Given the description of an element on the screen output the (x, y) to click on. 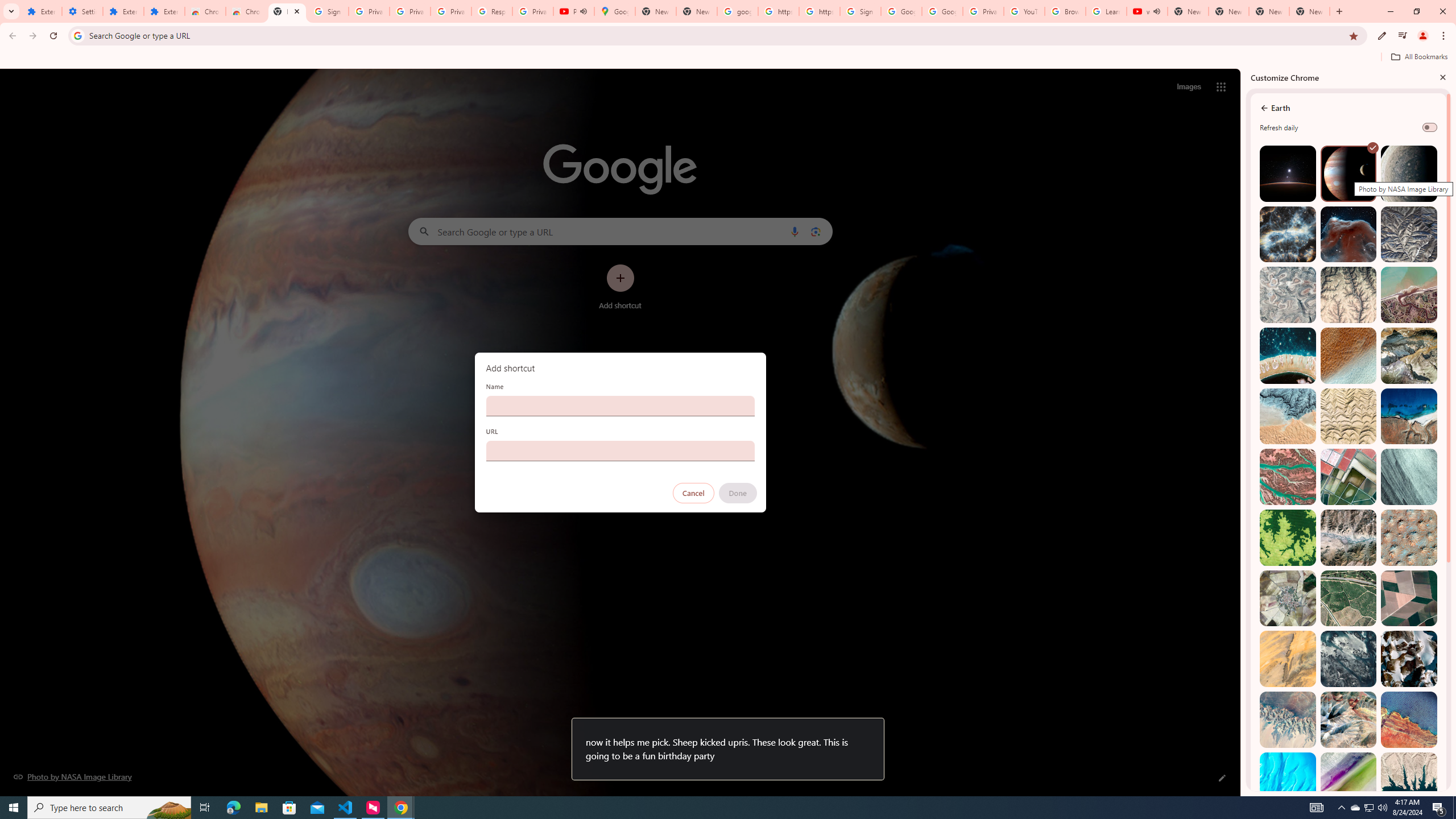
Kelan, Shanxi, China (1408, 233)
Pozoantiguo, Spain (1287, 598)
AutomationID: svg (1372, 147)
Granville, France (1348, 658)
The Tuamotu and Gambier Islands, French Polynesia (1287, 355)
Refresh daily (1429, 126)
Bookmarks (728, 58)
Photo by NASA Image Library (1348, 233)
Sign in - Google Accounts (327, 11)
